Given the description of an element on the screen output the (x, y) to click on. 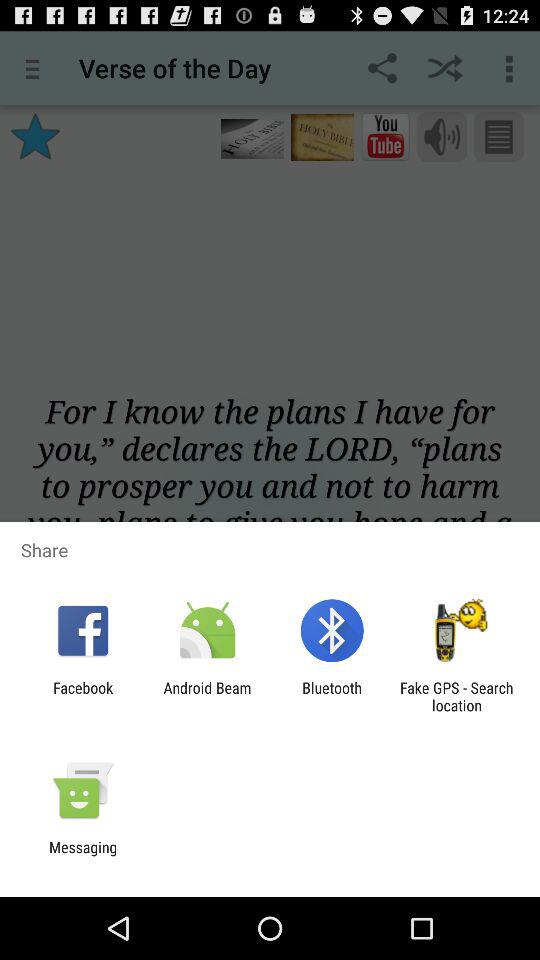
open the messaging item (83, 856)
